Given the description of an element on the screen output the (x, y) to click on. 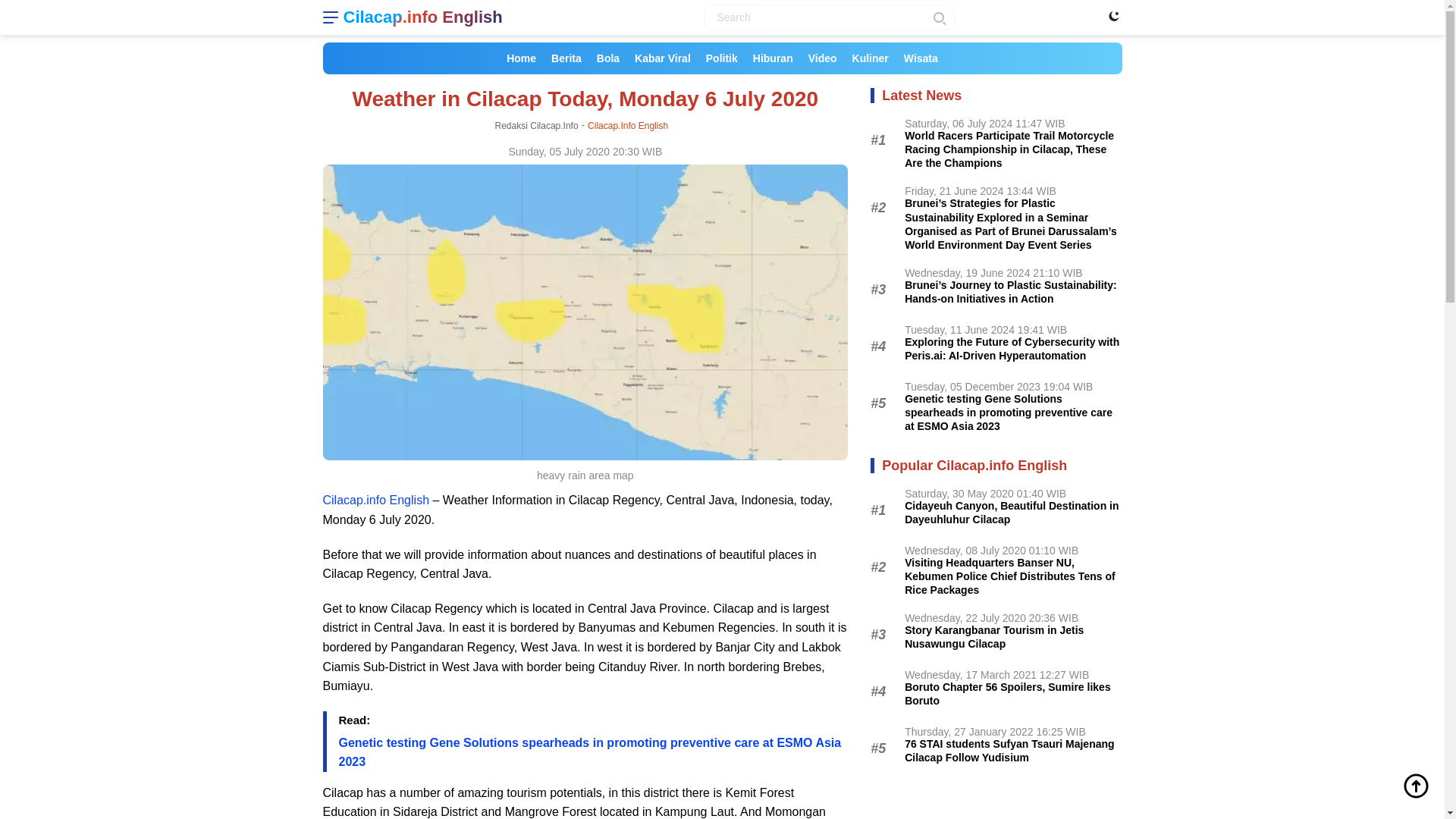
Wisata (920, 58)
Video (822, 58)
Beranda (521, 58)
Hiburan (772, 58)
News (566, 58)
Kabar Viral (662, 58)
Kuliner (870, 58)
Kilas Politik (721, 58)
Bola (608, 58)
Cilacap.Info English (628, 125)
